Given the description of an element on the screen output the (x, y) to click on. 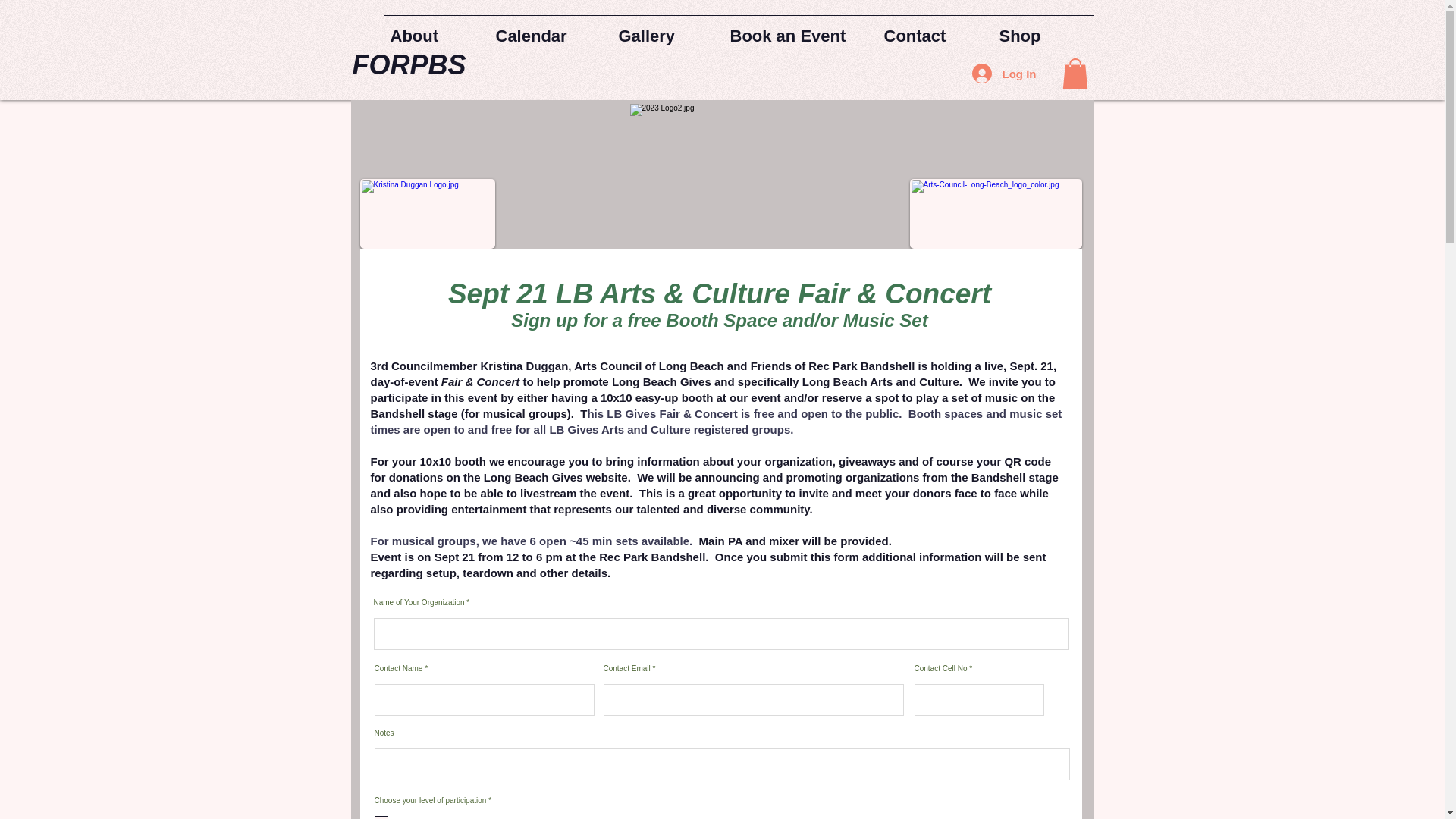
About (436, 29)
Shop (1043, 29)
Gallery (667, 29)
FORPBS logo.jpg (709, 176)
FORPBS (408, 64)
Contact (934, 29)
Log In (1003, 72)
Book an Event (800, 29)
Calendar (550, 29)
